Given the description of an element on the screen output the (x, y) to click on. 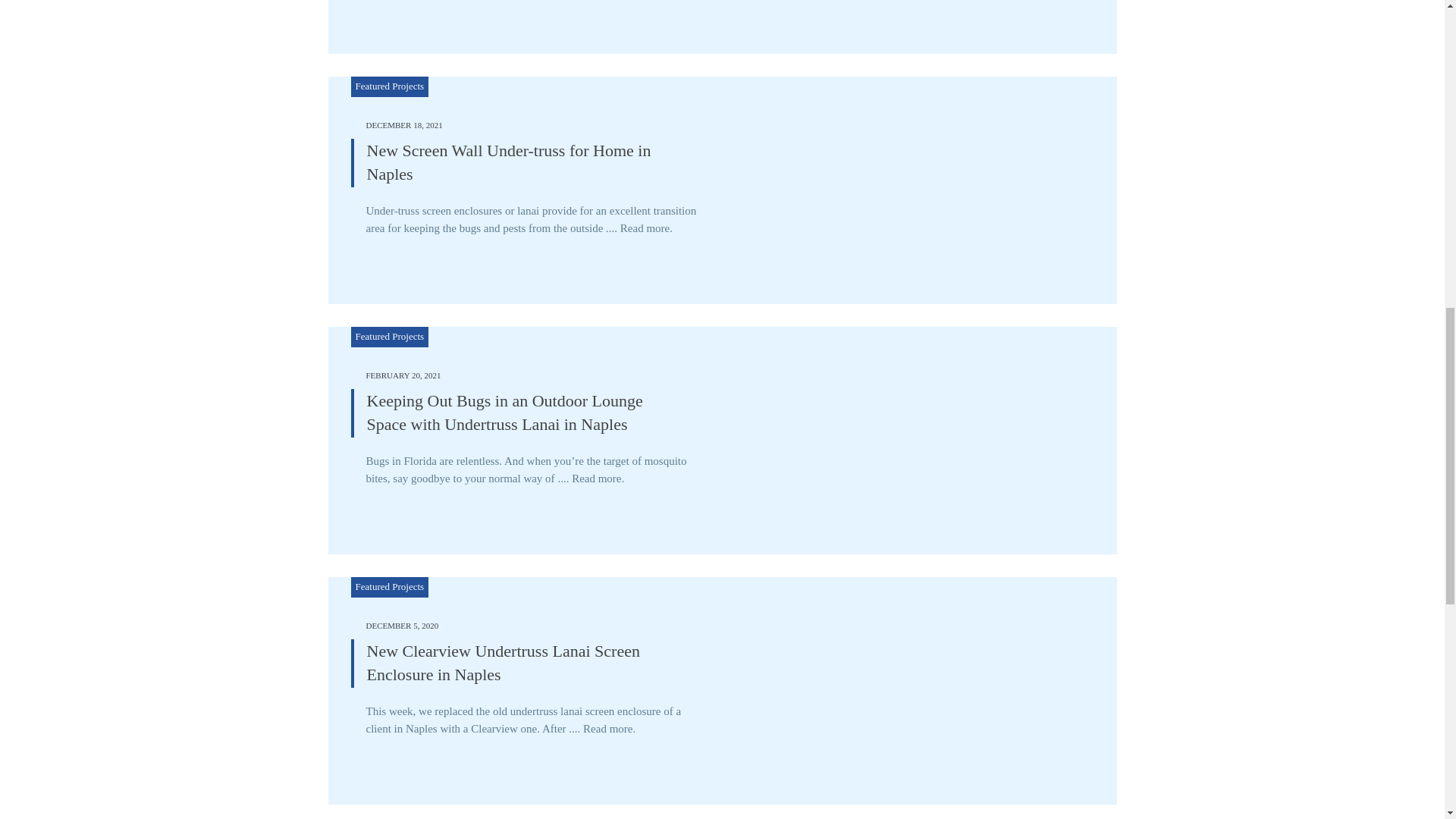
Featured Projects (389, 336)
New Clearview Undertruss Lanai Screen Enclosure in Naples (503, 662)
December 5, 2020  (401, 624)
Featured Projects (389, 586)
New Screen Wall Under-truss for Home in Naples (508, 161)
February 20, 2021  (403, 375)
December 18, 2021  (403, 124)
Featured Projects (389, 85)
